Given the description of an element on the screen output the (x, y) to click on. 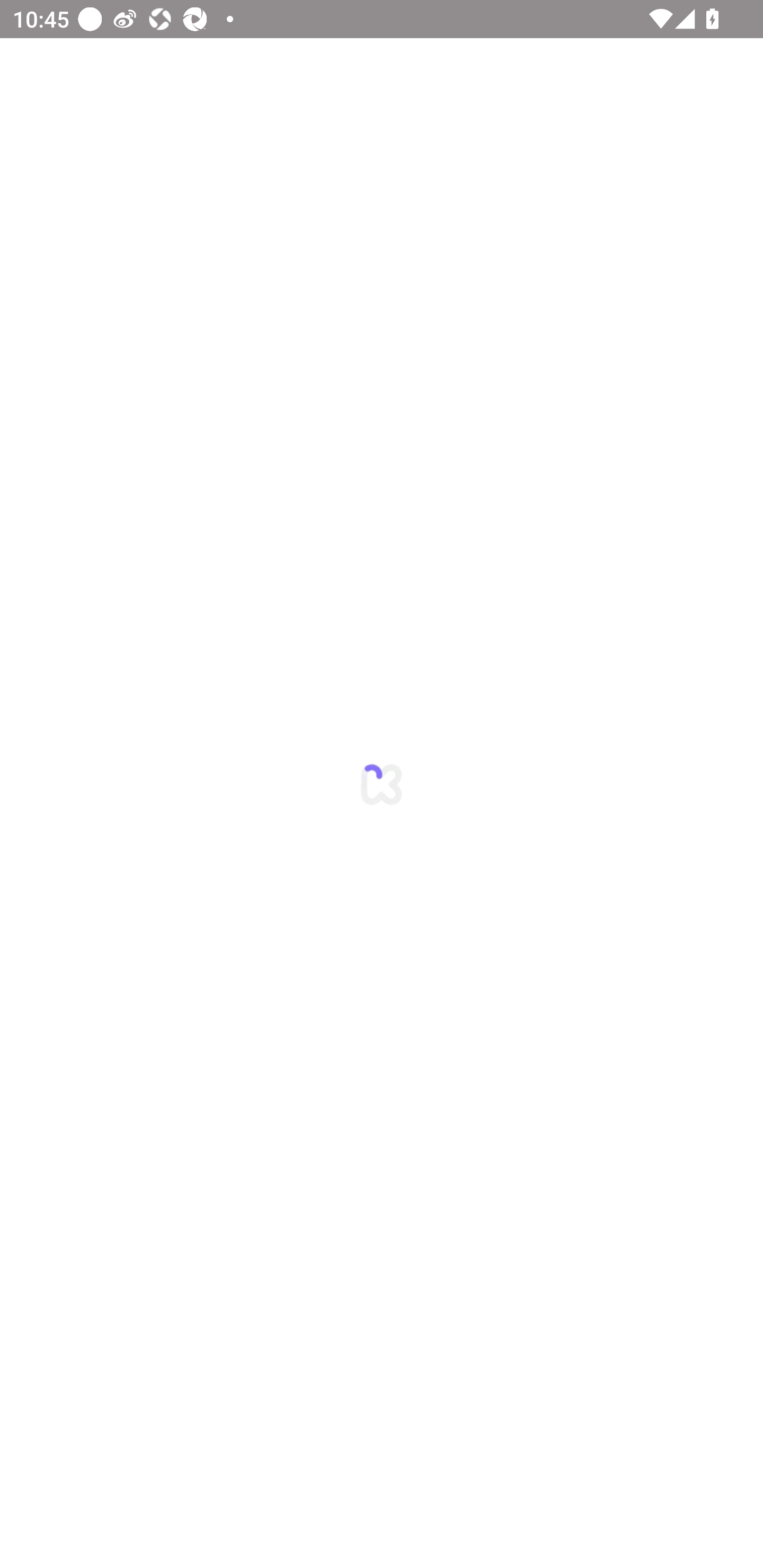
1 (381, 783)
